Given the description of an element on the screen output the (x, y) to click on. 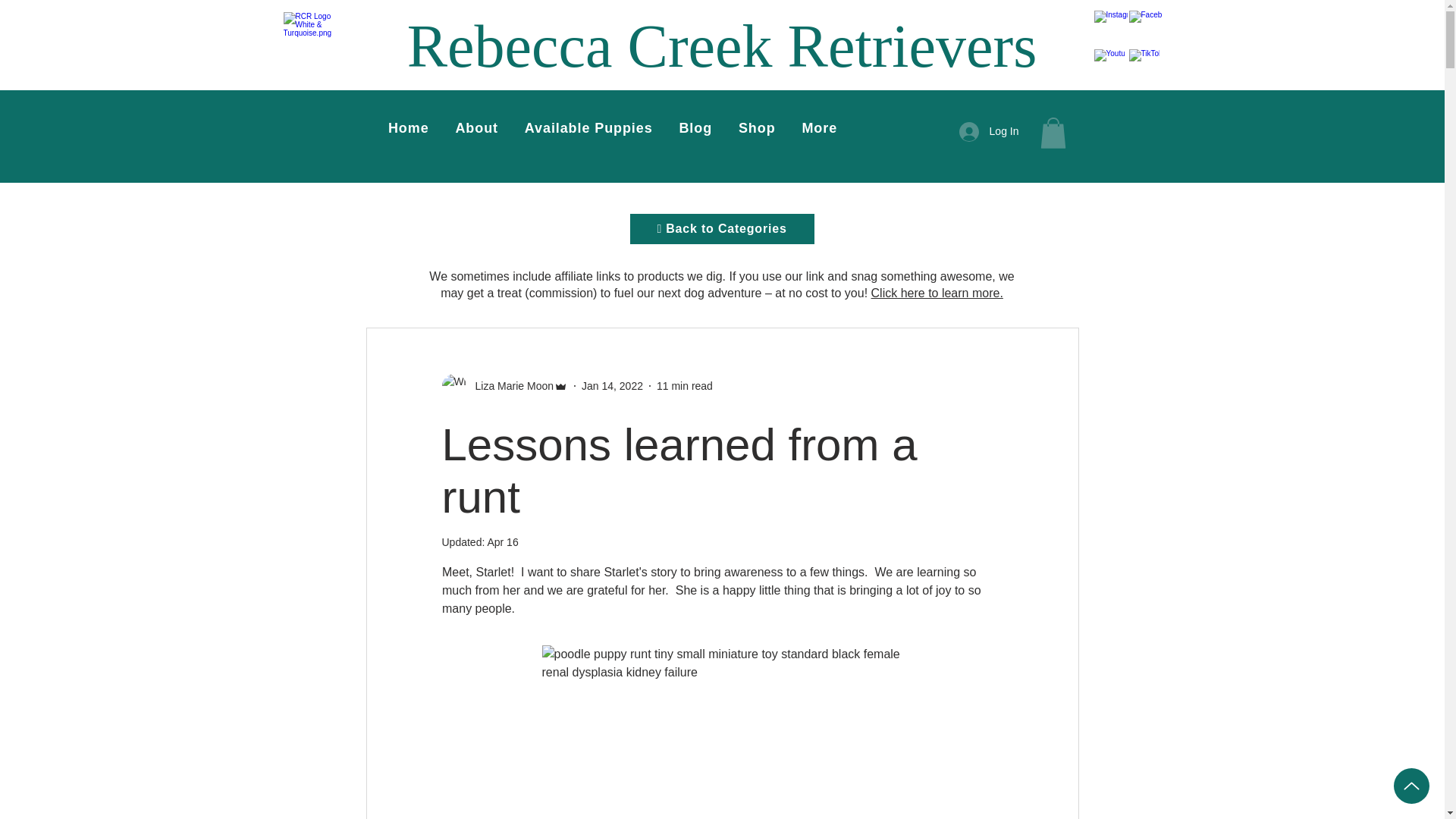
Rebecca Creek Retrievers (721, 46)
Liza Marie Moon (509, 385)
Apr 16 (502, 541)
Shop (757, 128)
Click here to learn more. (936, 292)
Home (408, 128)
11 min read (684, 386)
Blog (695, 128)
Liza Marie Moon (504, 385)
Log In (989, 131)
Jan 14, 2022 (611, 386)
